Given the description of an element on the screen output the (x, y) to click on. 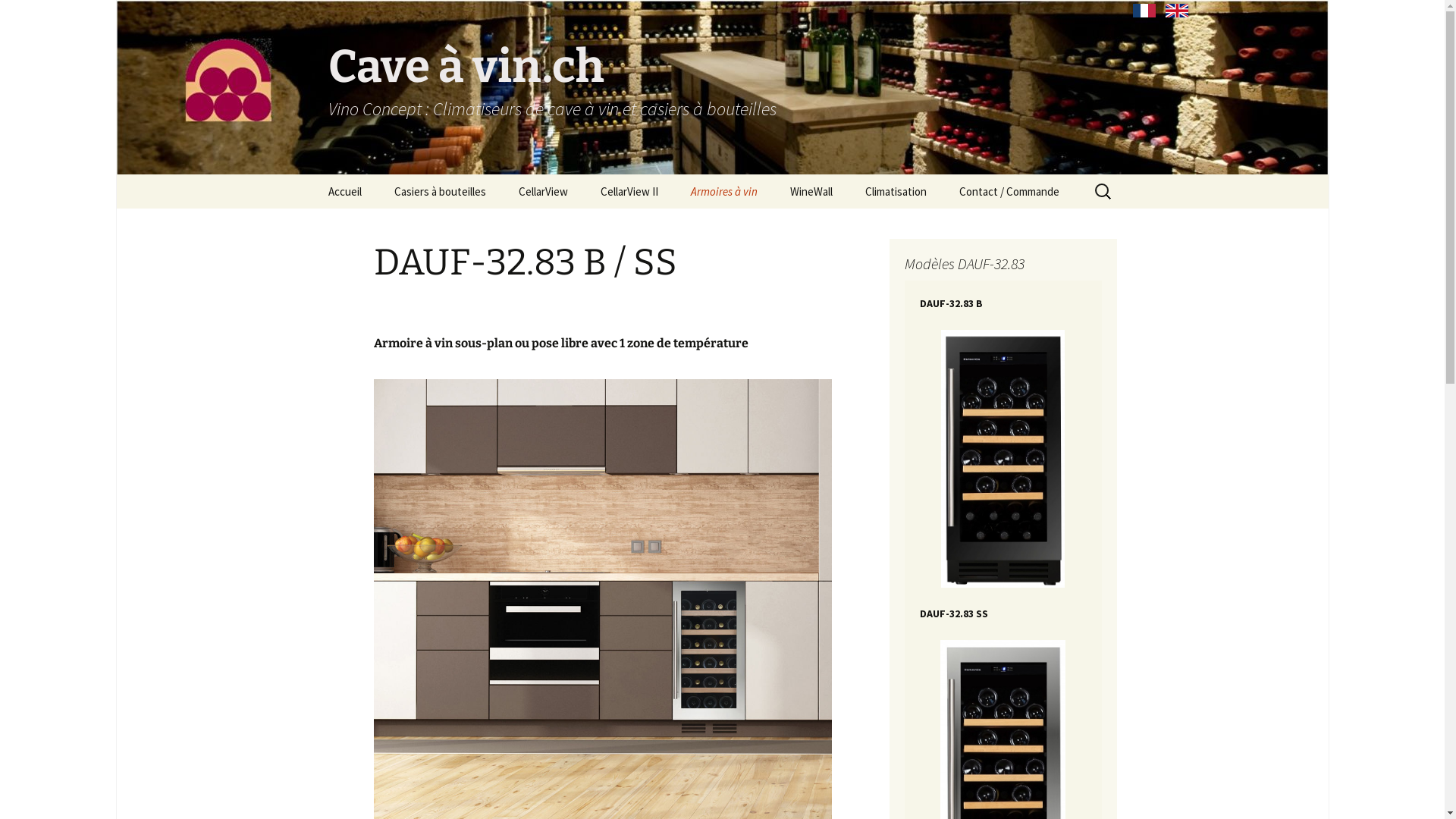
WW-05 Noir / Platinum Element type: text (661, 225)
WineWall Sur Mesure Element type: text (850, 225)
CellarView Rack Element type: text (579, 225)
Casiers en pierre Element type: text (454, 225)
CellarView II Element type: text (629, 191)
Tastvin Element type: text (750, 225)
WineWall Element type: text (811, 191)
WineCooler SM Element type: text (925, 225)
CellarView Element type: text (543, 191)
Climatisation Element type: text (895, 191)
Contact / Commande Element type: text (1008, 191)
English Element type: hover (1176, 10)
Rechercher Element type: text (18, 16)
Accueil Element type: text (344, 191)
Aller au contenu principal Element type: text (312, 173)
